Given the description of an element on the screen output the (x, y) to click on. 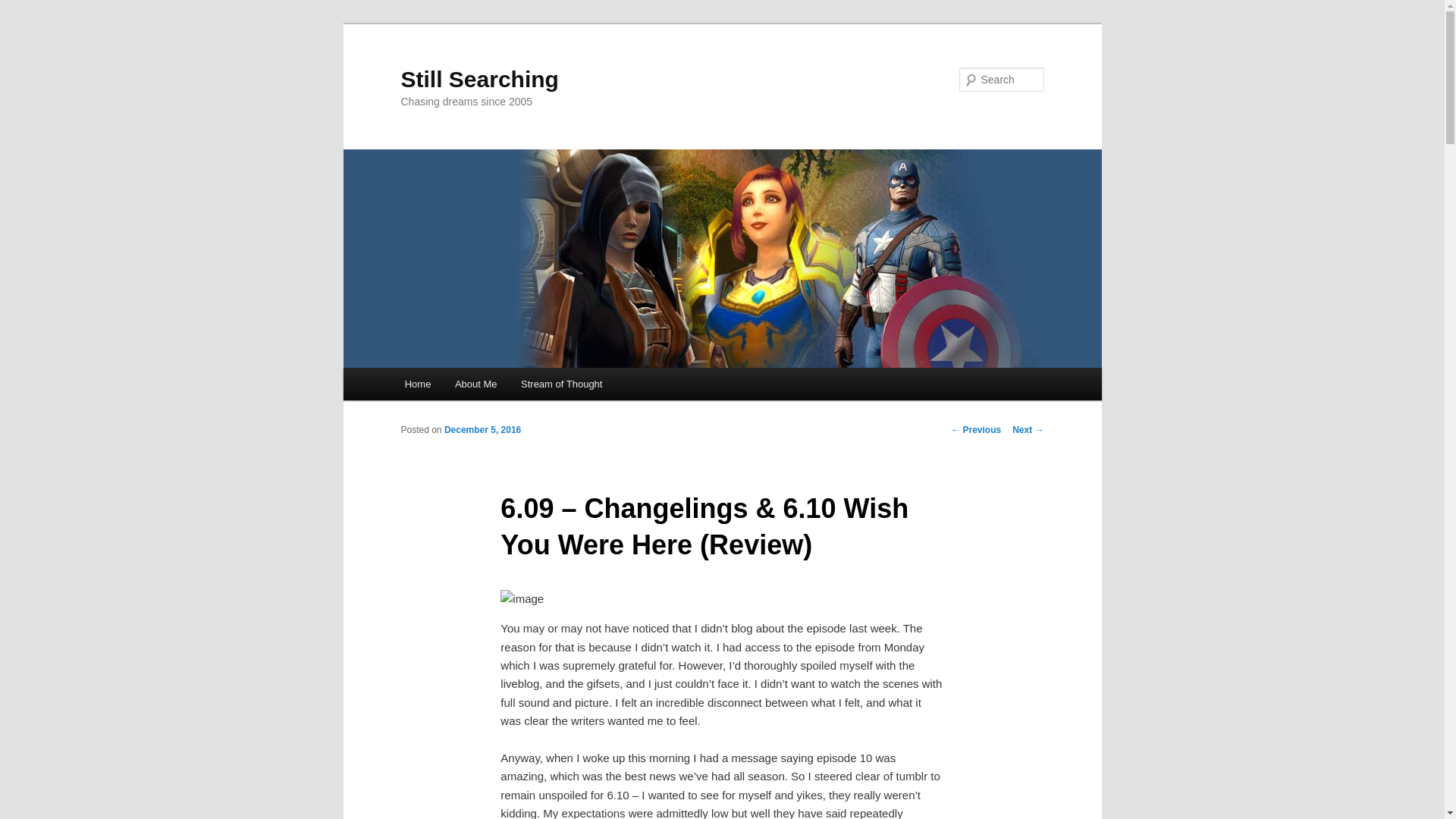
Stream of Thought (561, 383)
Home (417, 383)
1:11 pm (482, 429)
About Me (475, 383)
Search (24, 8)
Still Searching (478, 78)
December 5, 2016 (482, 429)
